Given the description of an element on the screen output the (x, y) to click on. 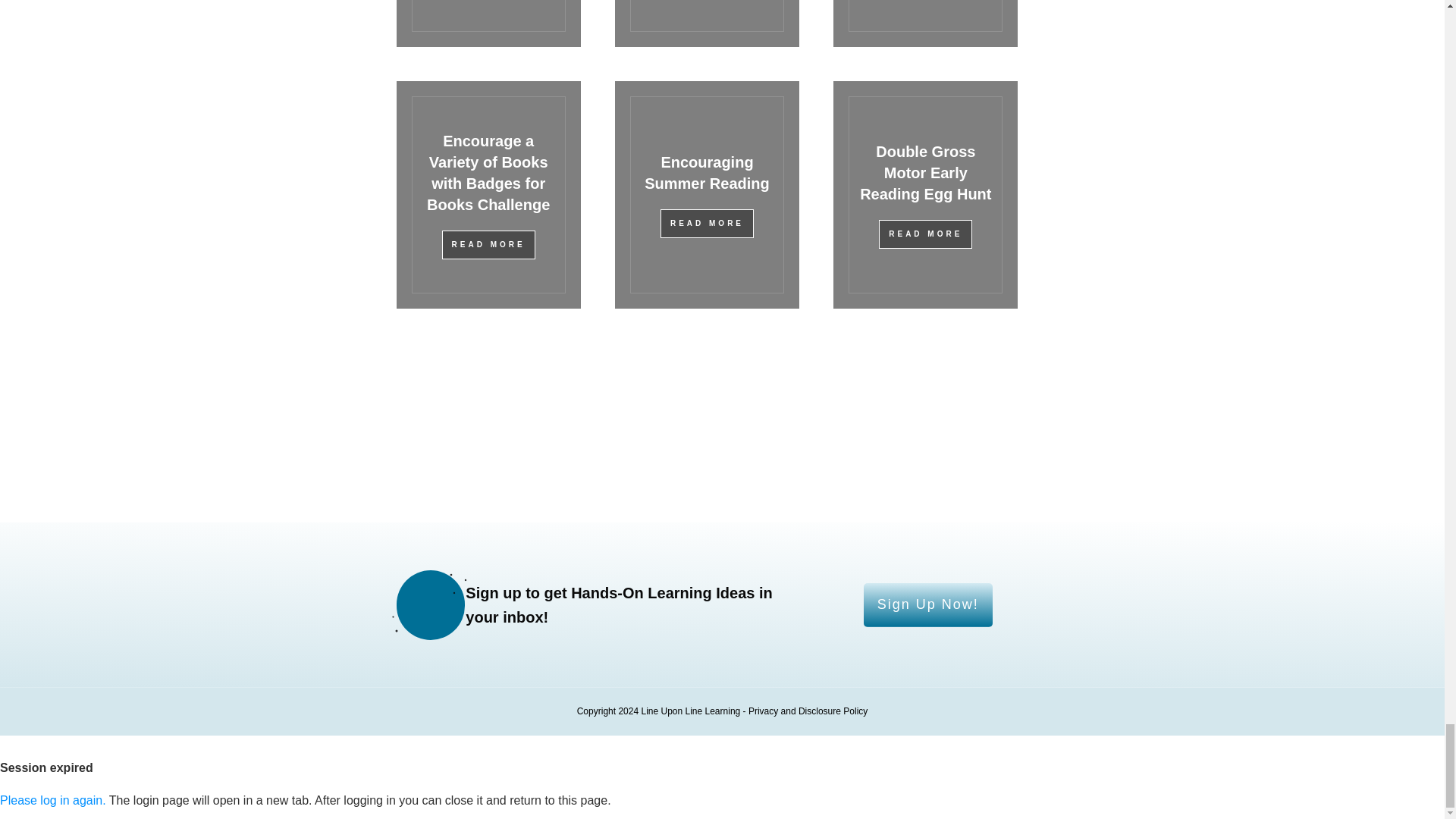
Encourage a Variety of Books with Badges for Books Challenge (488, 172)
Encouraging Summer Reading (706, 172)
Double Gross Motor Early Reading Egg Hunt (925, 172)
